Given the description of an element on the screen output the (x, y) to click on. 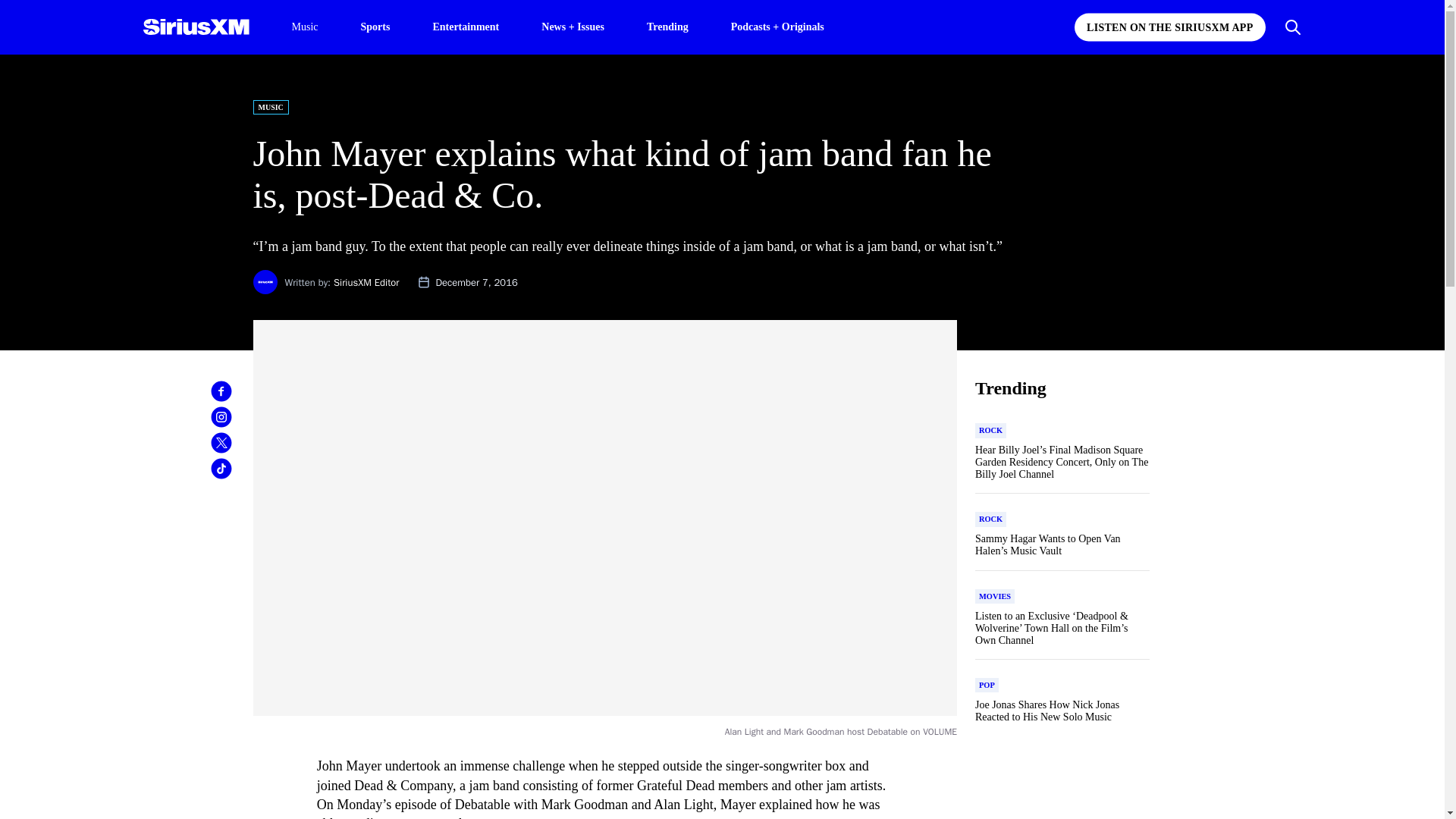
Sports (375, 26)
SiriusXM Editor (365, 282)
MUSIC (270, 106)
LISTEN ON THE SIRIUSXM APP (1169, 27)
Music (304, 26)
Trending (667, 26)
Entertainment (465, 26)
